Given the description of an element on the screen output the (x, y) to click on. 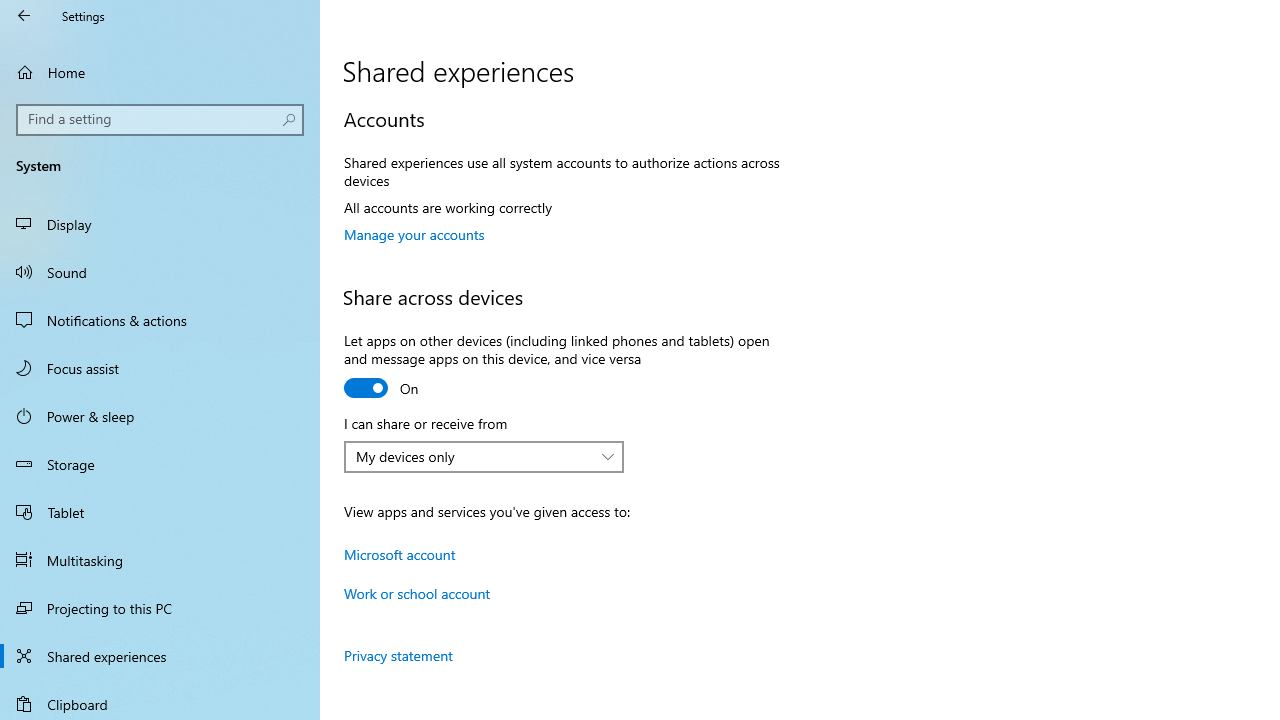
I can share or receive from (484, 456)
Power & sleep (160, 415)
Back (24, 15)
Tablet (160, 511)
Notifications & actions (160, 319)
